Given the description of an element on the screen output the (x, y) to click on. 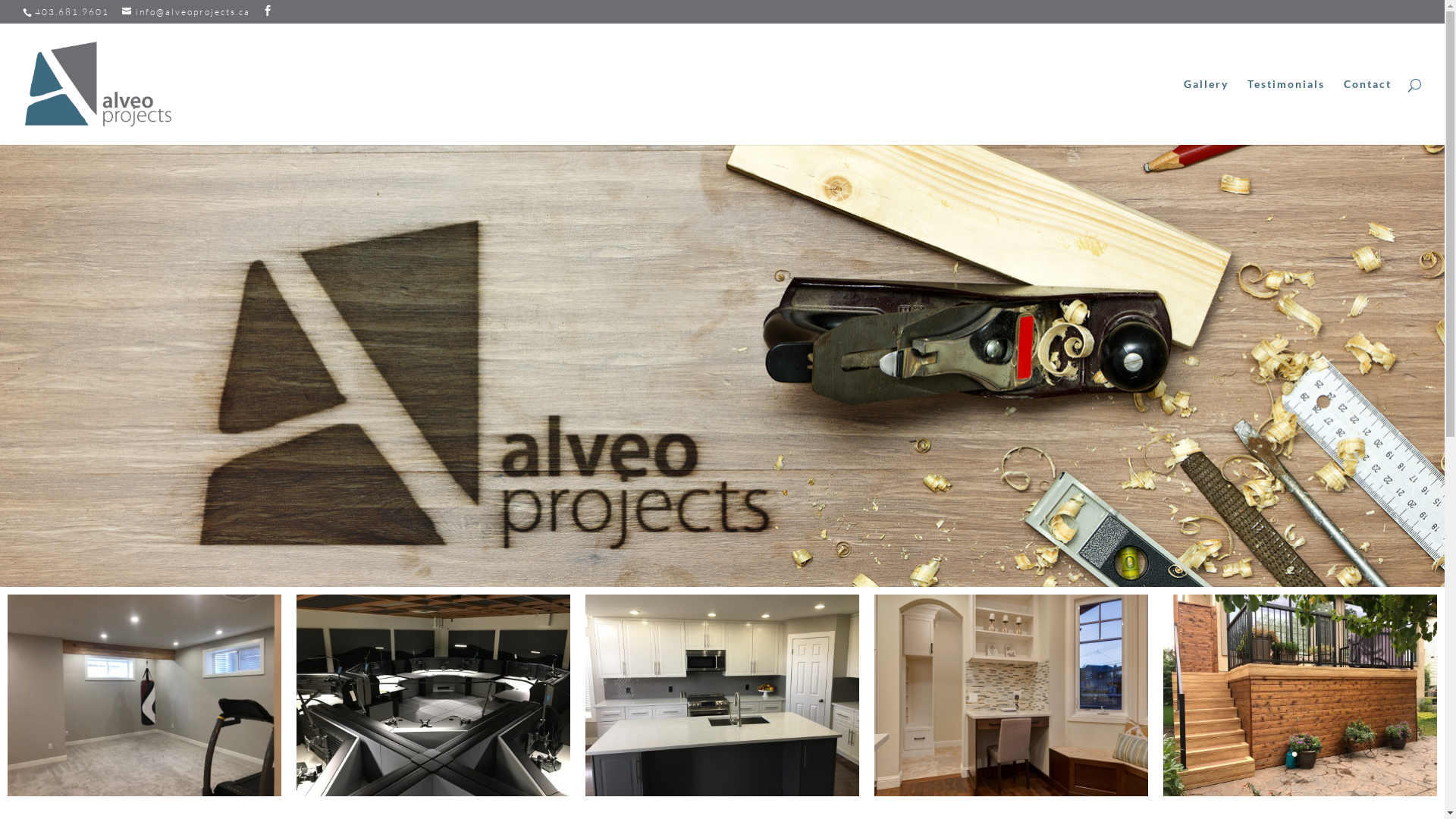
Gallery Element type: text (1205, 111)
Contact Element type: text (1367, 111)
Home Element type: text (1146, 111)
Testimonials Element type: text (1285, 111)
info@alveoprojects.ca Element type: text (186, 11)
